Given the description of an element on the screen output the (x, y) to click on. 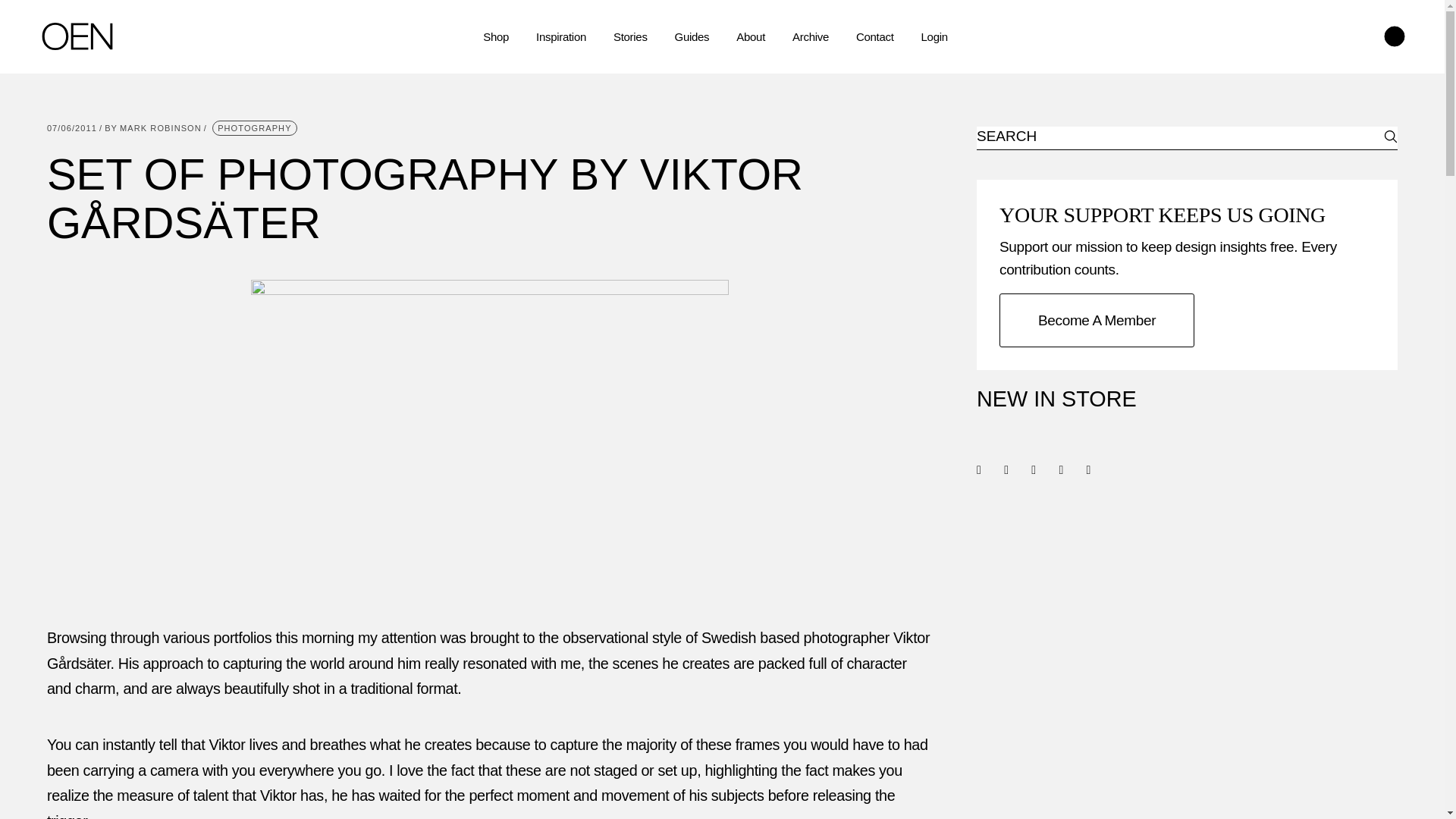
PHOTOGRAPHY (254, 127)
